Given the description of an element on the screen output the (x, y) to click on. 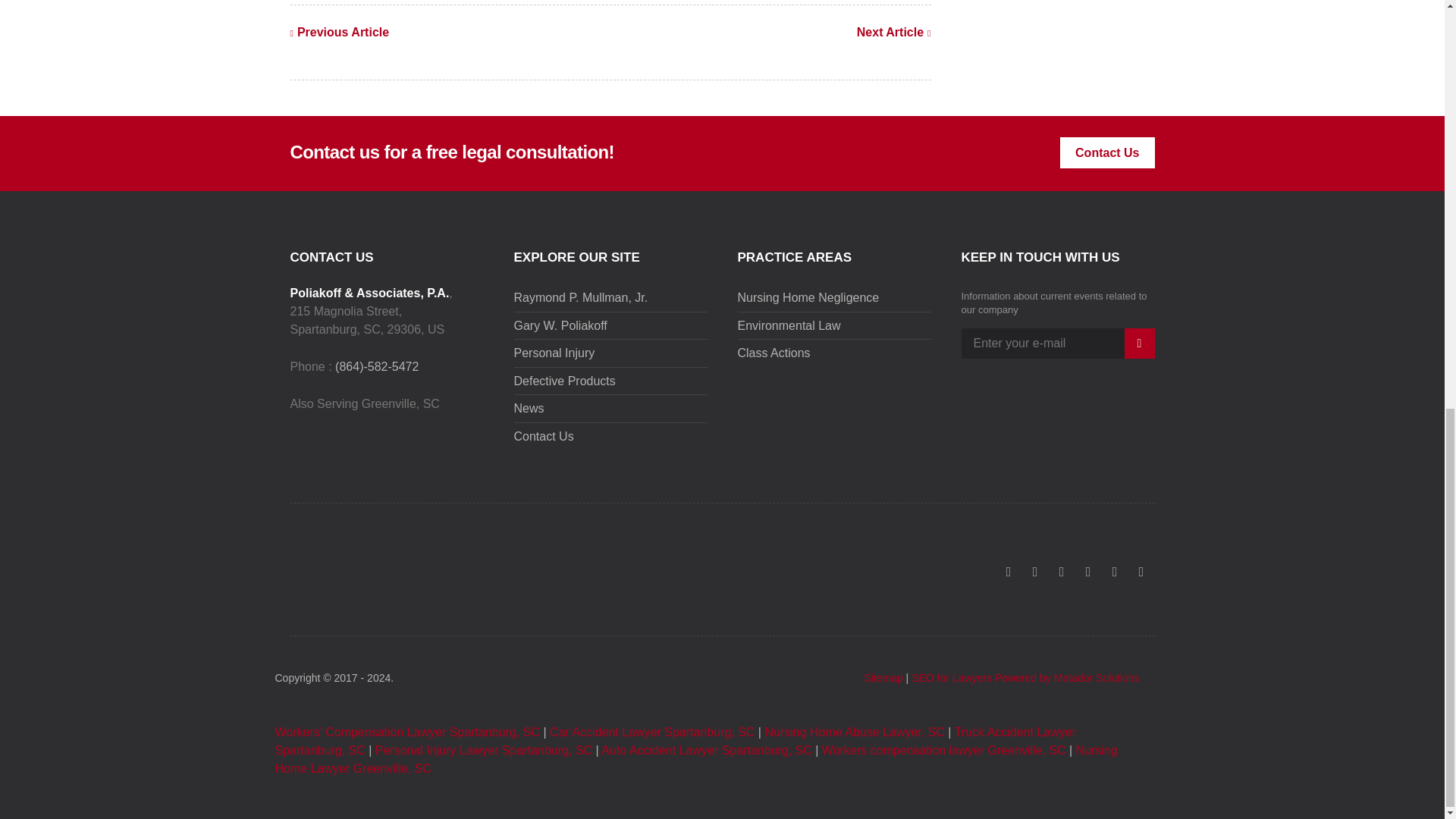
Gary W. Poliakoff (560, 325)
Previous Article (338, 32)
Next Article (894, 32)
Contact Us (1106, 152)
Raymond P. Mullman, Jr. (580, 297)
Personal Injury (554, 352)
